Given the description of an element on the screen output the (x, y) to click on. 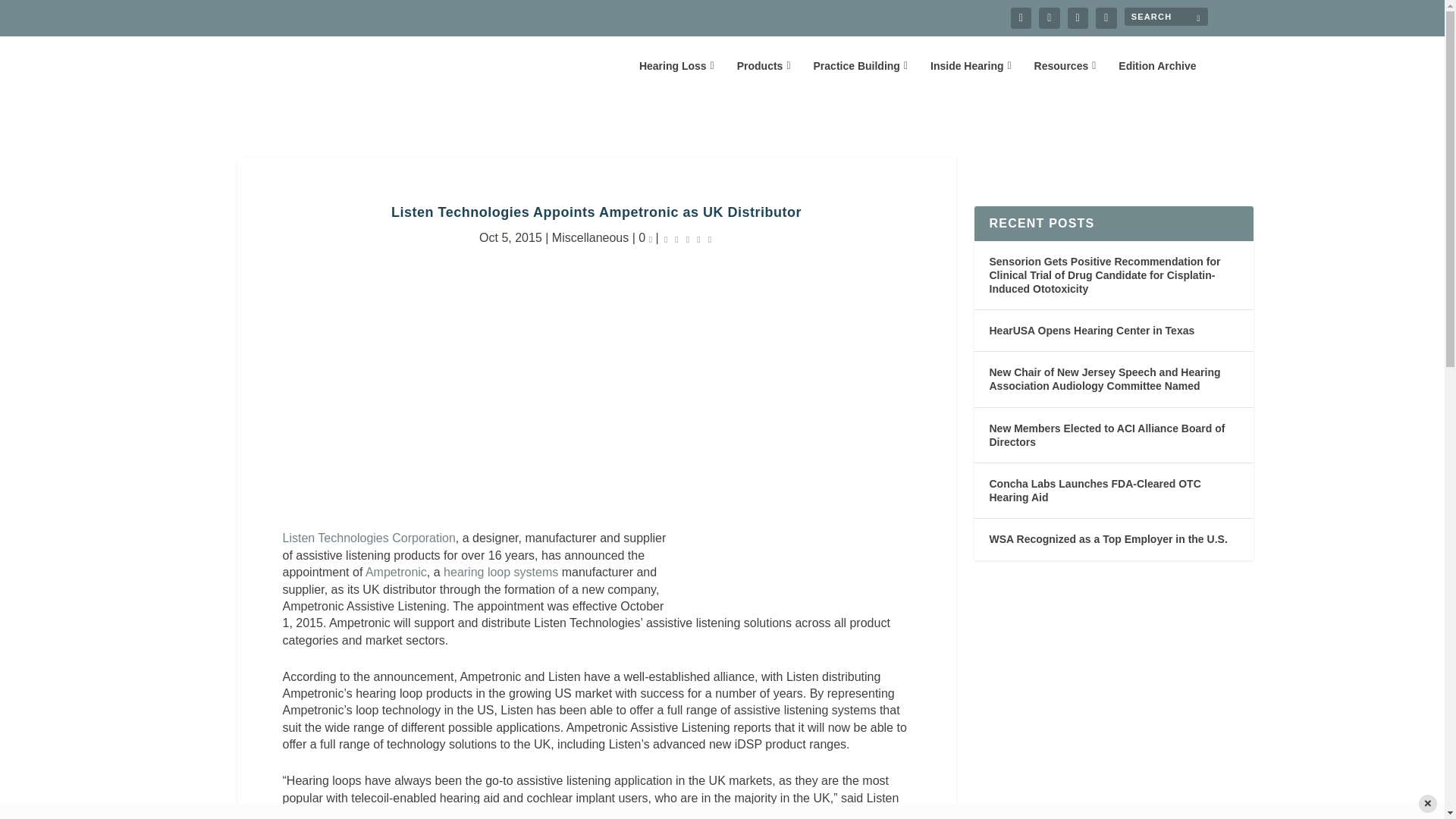
Rating: 0.50 (687, 238)
Hearing Loss (676, 77)
Listen Technologies Corporation (368, 537)
comment count (650, 239)
Listen Technologies Corporation (368, 537)
Inside Hearing (970, 77)
Products (763, 77)
Edition Archive (1156, 77)
Practice Building (860, 77)
0 (645, 237)
Search for: (1165, 16)
Miscellaneous (589, 237)
HR coverage of hearing loop systems (500, 571)
Resources (1064, 77)
Ampetronic (395, 571)
